Given the description of an element on the screen output the (x, y) to click on. 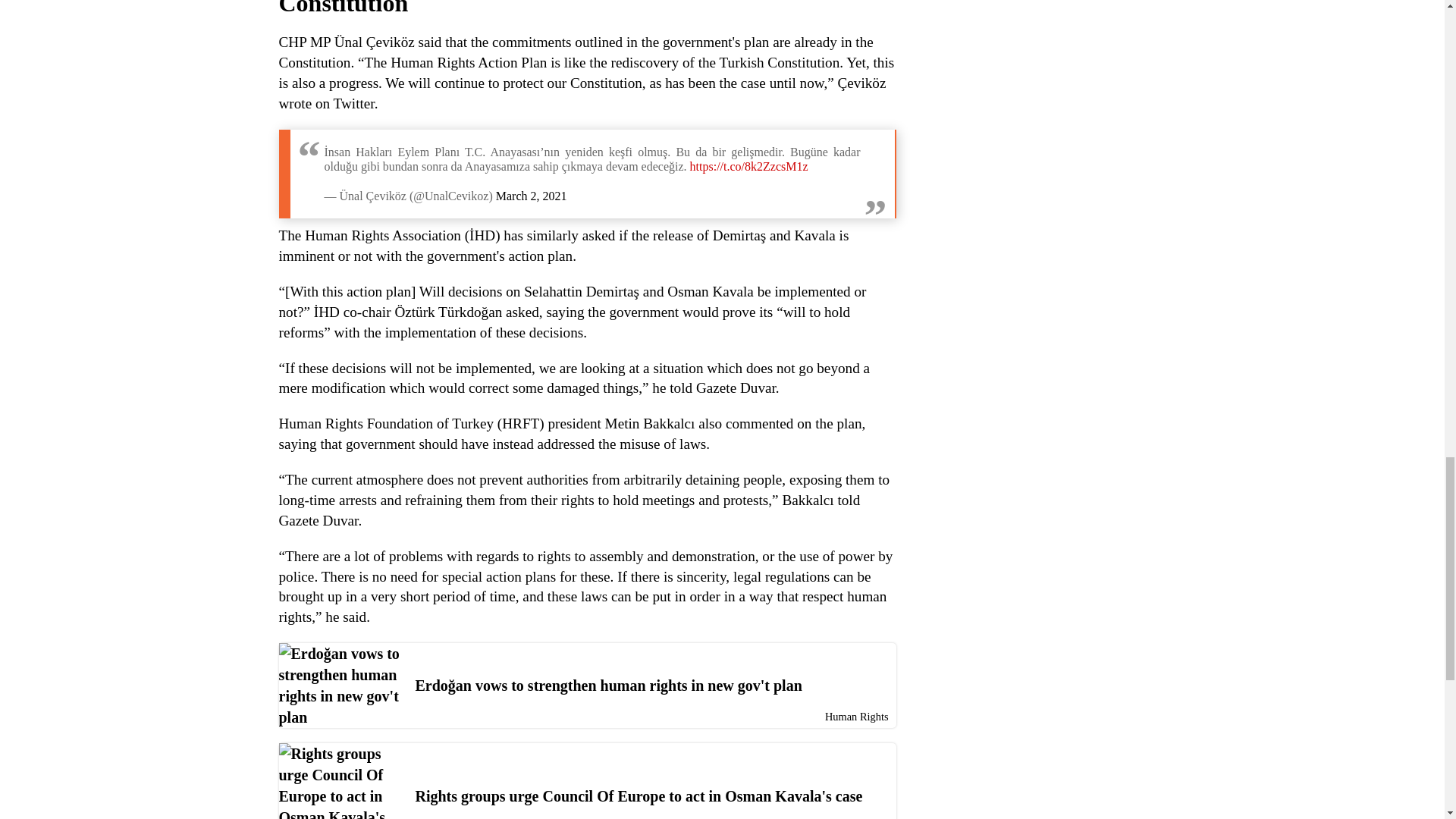
March 2, 2021 (531, 195)
